Given the description of an element on the screen output the (x, y) to click on. 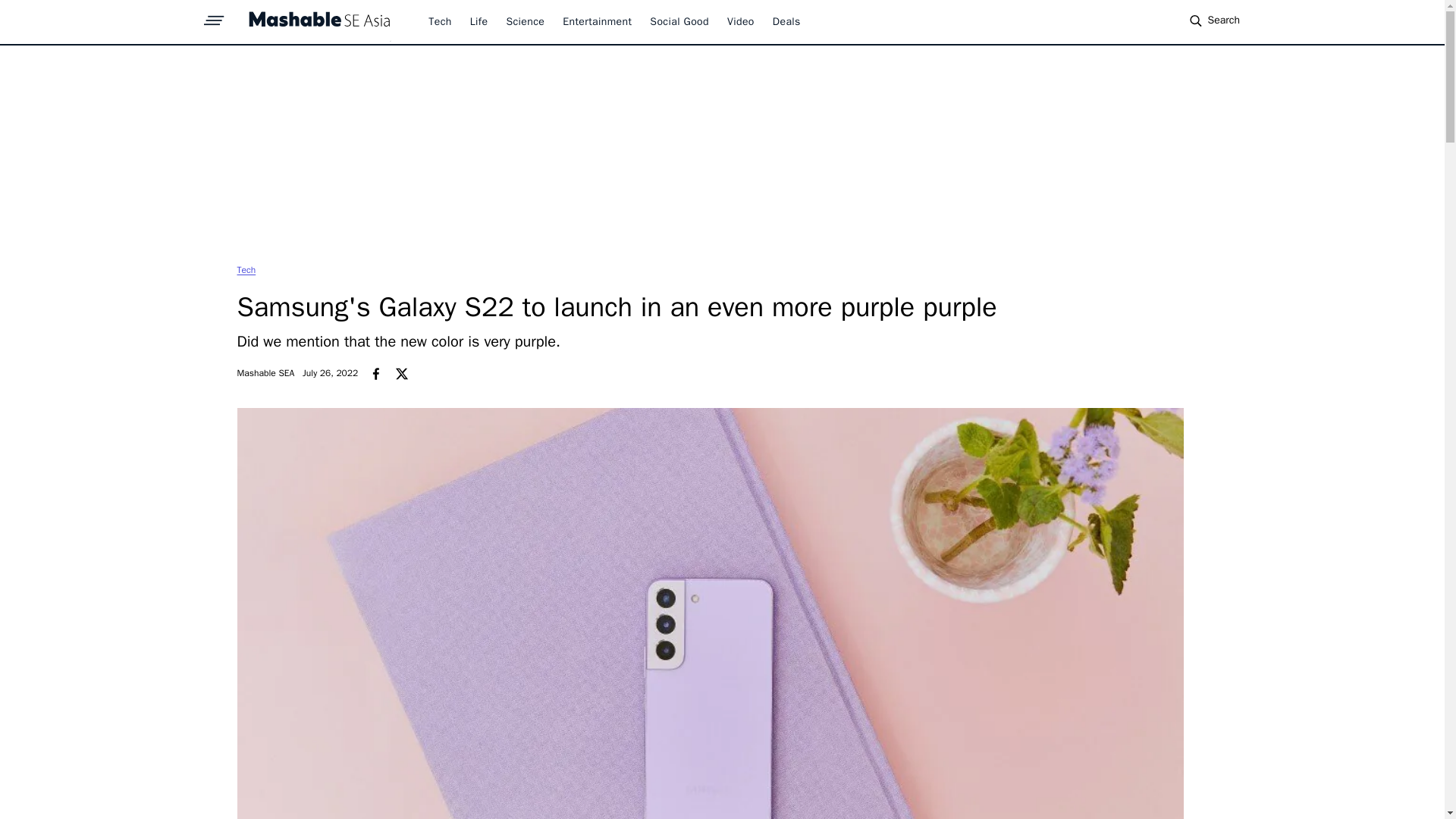
Social Good (679, 21)
Video (740, 21)
Deals (786, 21)
Entertainment (596, 21)
Tech (245, 269)
Life (478, 21)
Tech (245, 269)
Tech (439, 21)
Science (524, 21)
sprite-hamburger (213, 16)
